Given the description of an element on the screen output the (x, y) to click on. 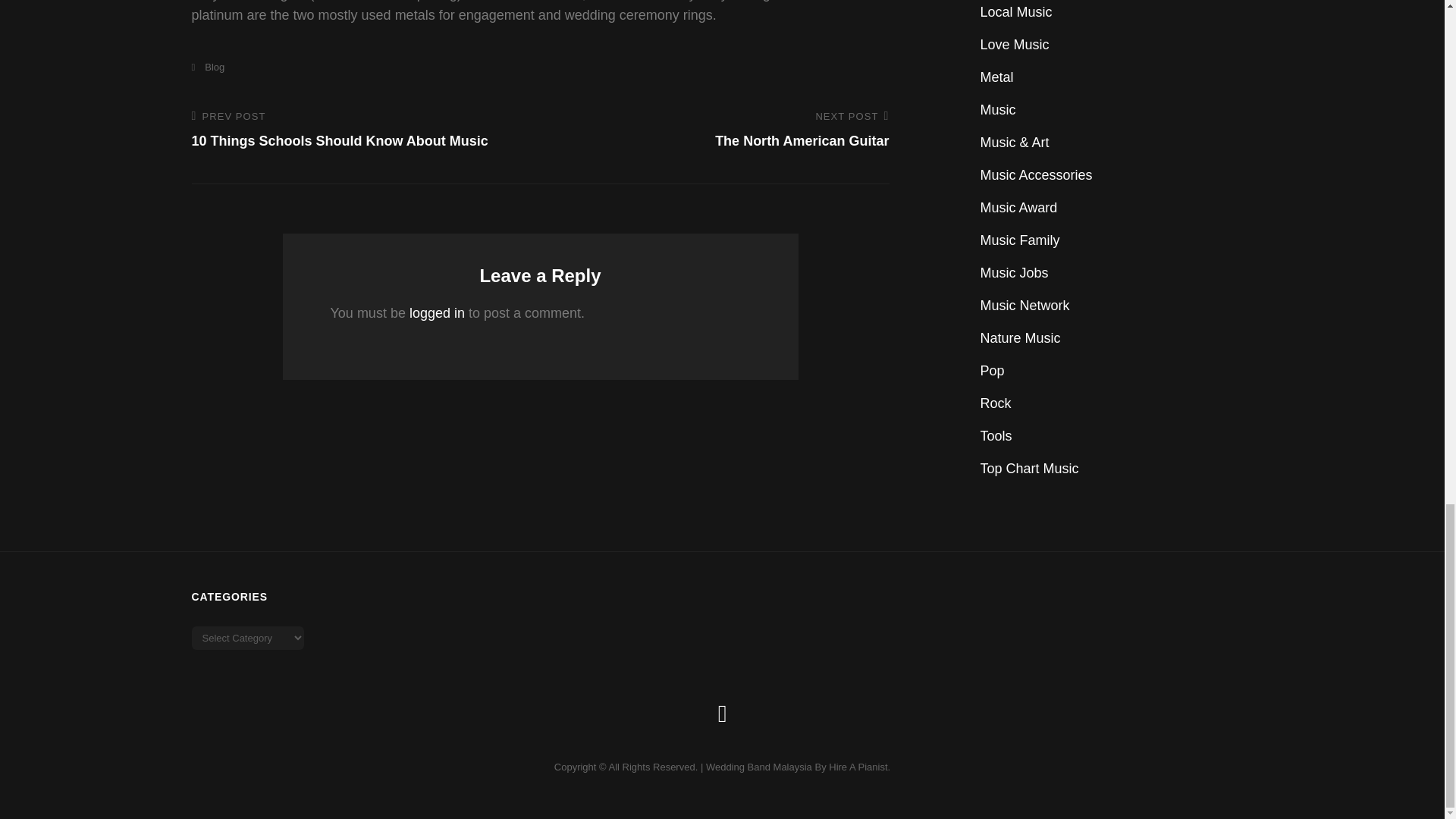
logged in (721, 129)
Blog (436, 313)
